Given the description of an element on the screen output the (x, y) to click on. 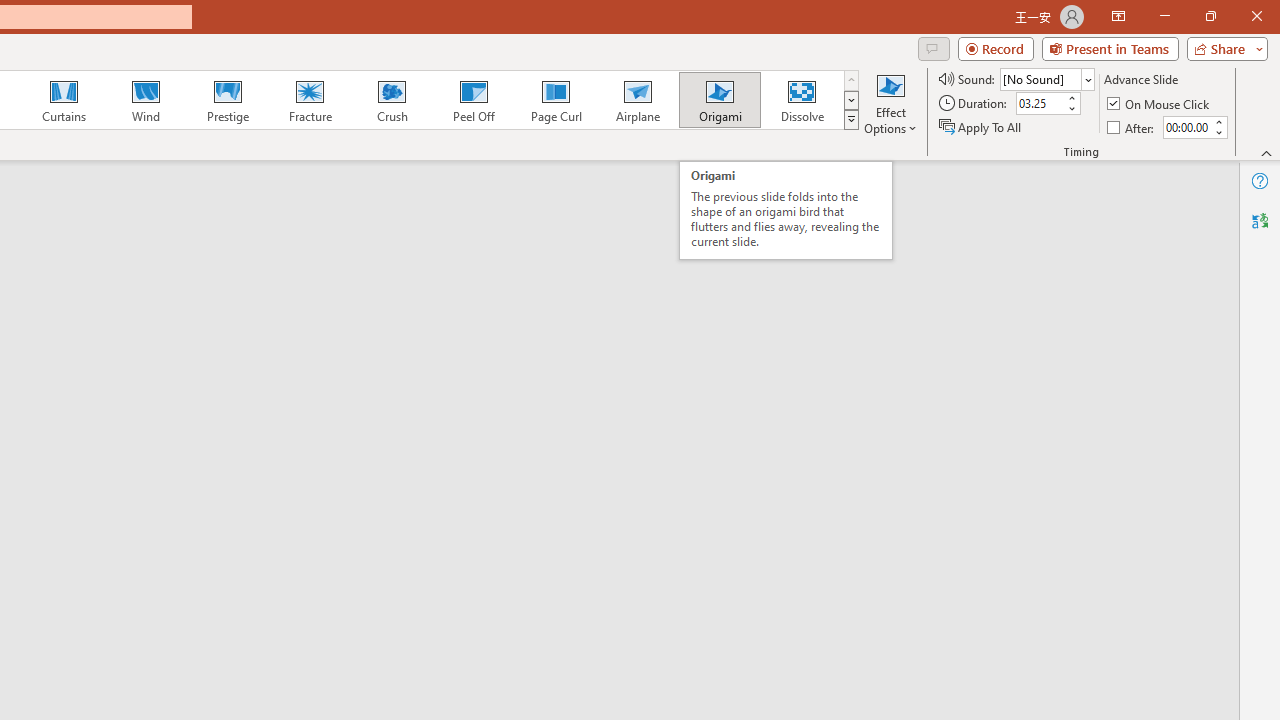
Effect Options (890, 102)
Prestige (227, 100)
Transition Effects (850, 120)
Page Curl (555, 100)
On Mouse Click (1159, 103)
More (1218, 121)
Airplane (637, 100)
